Given the description of an element on the screen output the (x, y) to click on. 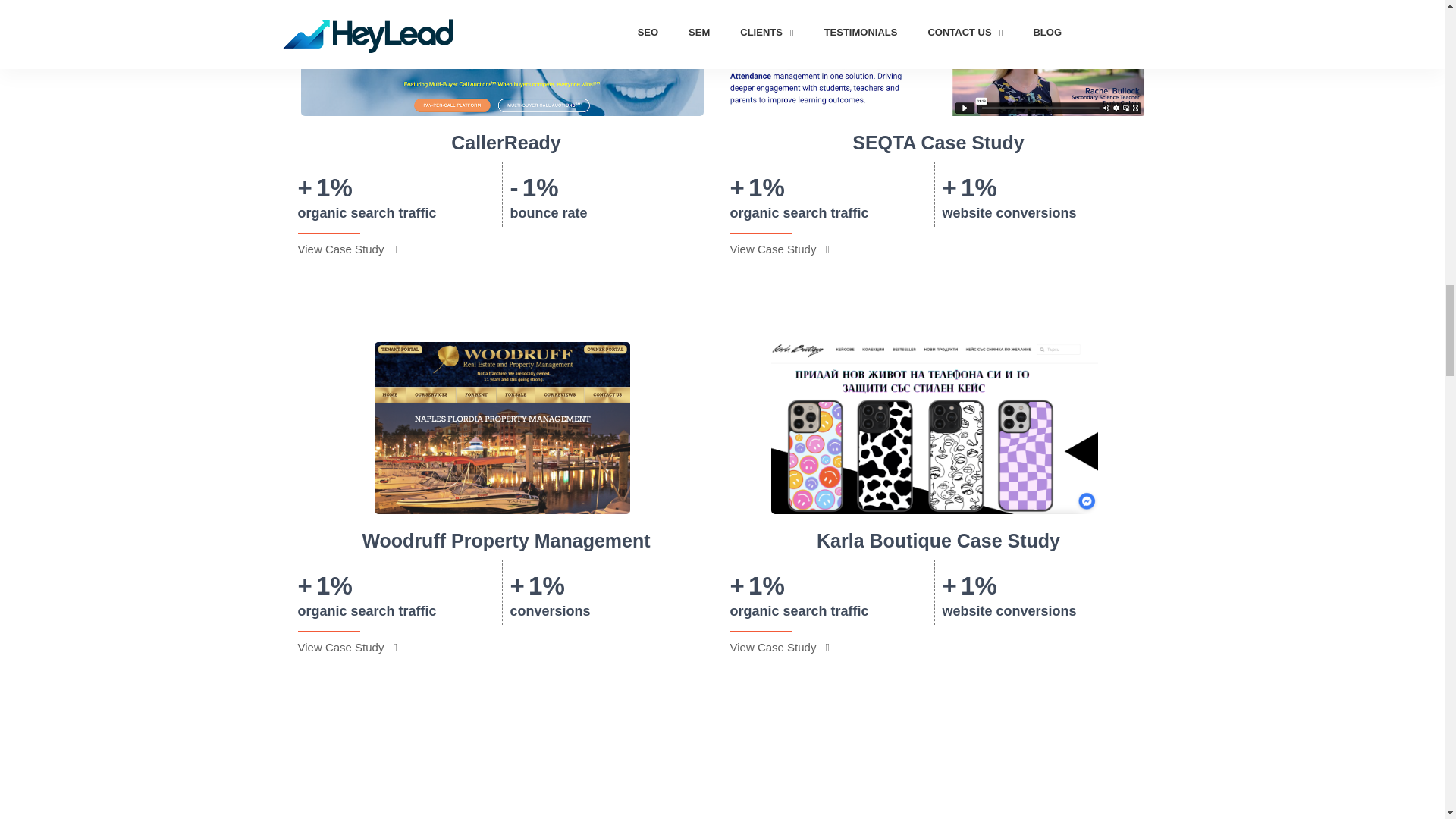
callerready case study (502, 58)
